Given the description of an element on the screen output the (x, y) to click on. 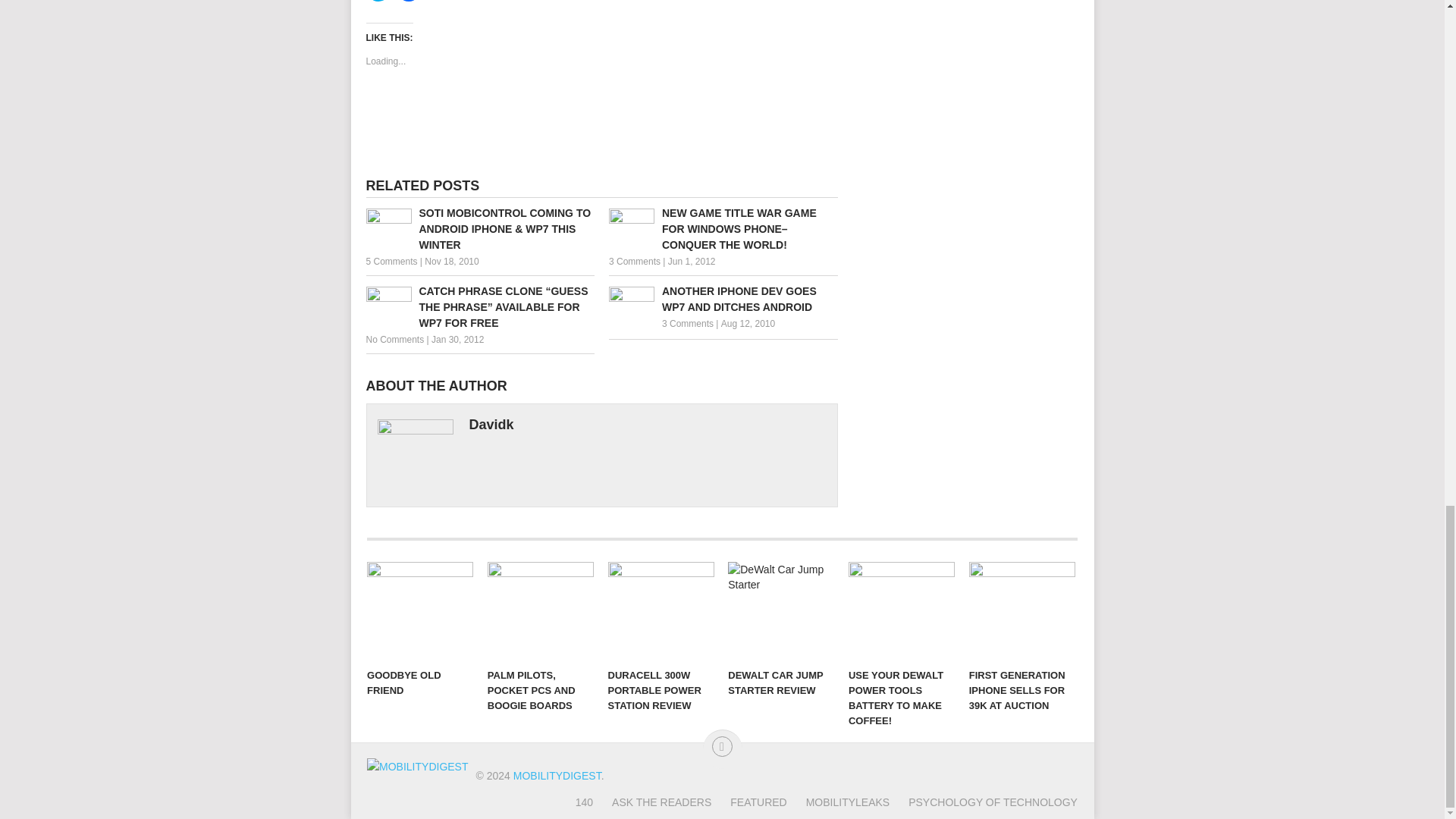
GOODBYE OLD FRIEND (419, 610)
No Comments (394, 339)
DEWALT CAR JUMP STARTER REVIEW (781, 610)
DURACELL 300W PORTABLE POWER STATION REVIEW (661, 610)
3 Comments (687, 323)
3 Comments (634, 261)
Another iPhone Dev Goes WP7 and Ditches Android (723, 299)
PALM PILOTS, POCKET PCS AND BOOGIE BOARDS (540, 610)
Click to share on Twitter (377, 0)
5 Comments (390, 261)
